Given the description of an element on the screen output the (x, y) to click on. 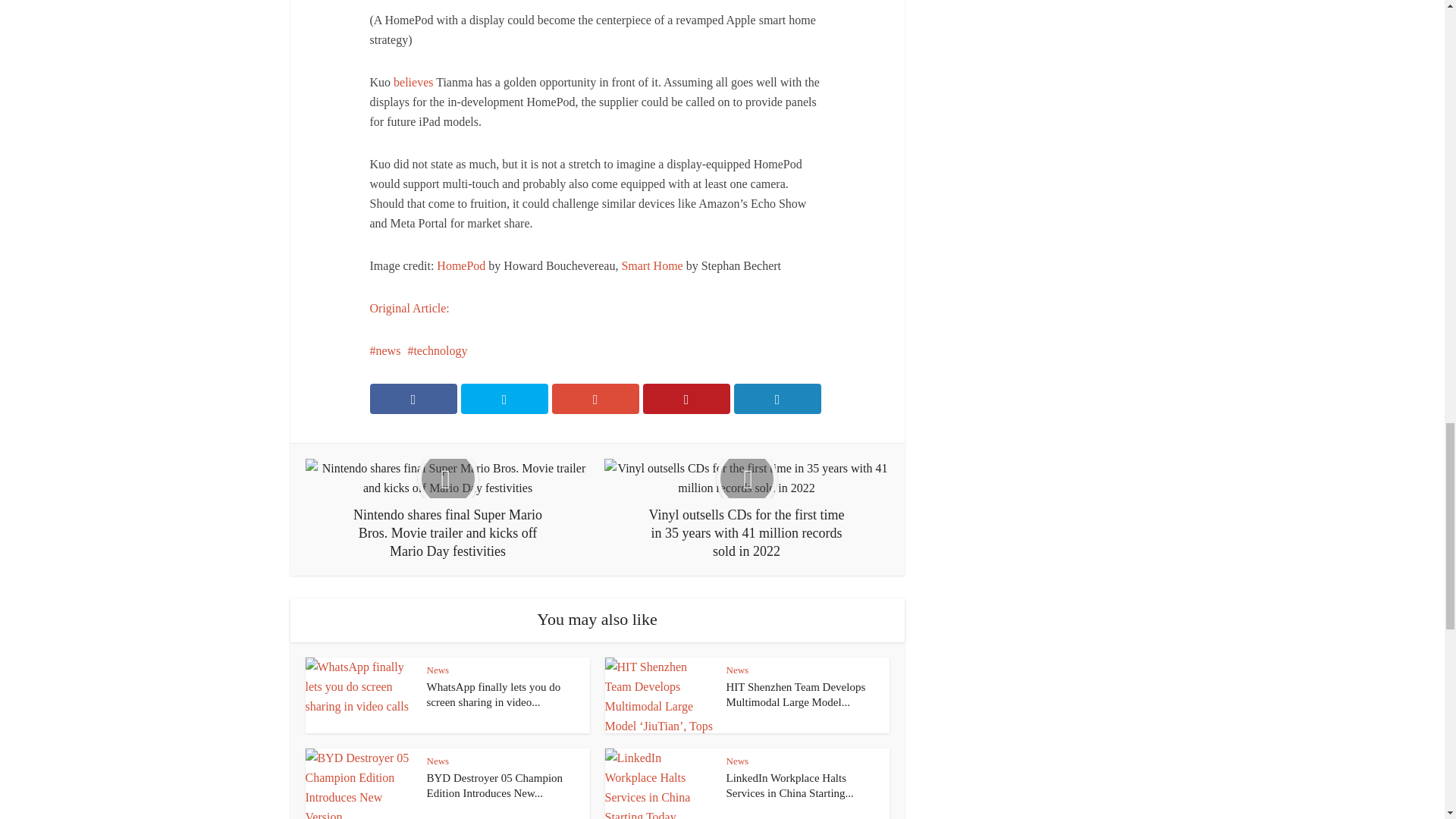
Original Article: (409, 308)
believes (412, 82)
HomePod (460, 265)
WhatsApp finally lets you do screen sharing in video... (493, 694)
BYD Destroyer 05 Champion Edition Introduces New Version (494, 785)
Smart Home (651, 265)
technology (437, 350)
LinkedIn Workplace Halts Services in China Starting Today (789, 785)
news (385, 350)
News (437, 669)
WhatsApp finally lets you do screen sharing in video calls (493, 694)
